Given the description of an element on the screen output the (x, y) to click on. 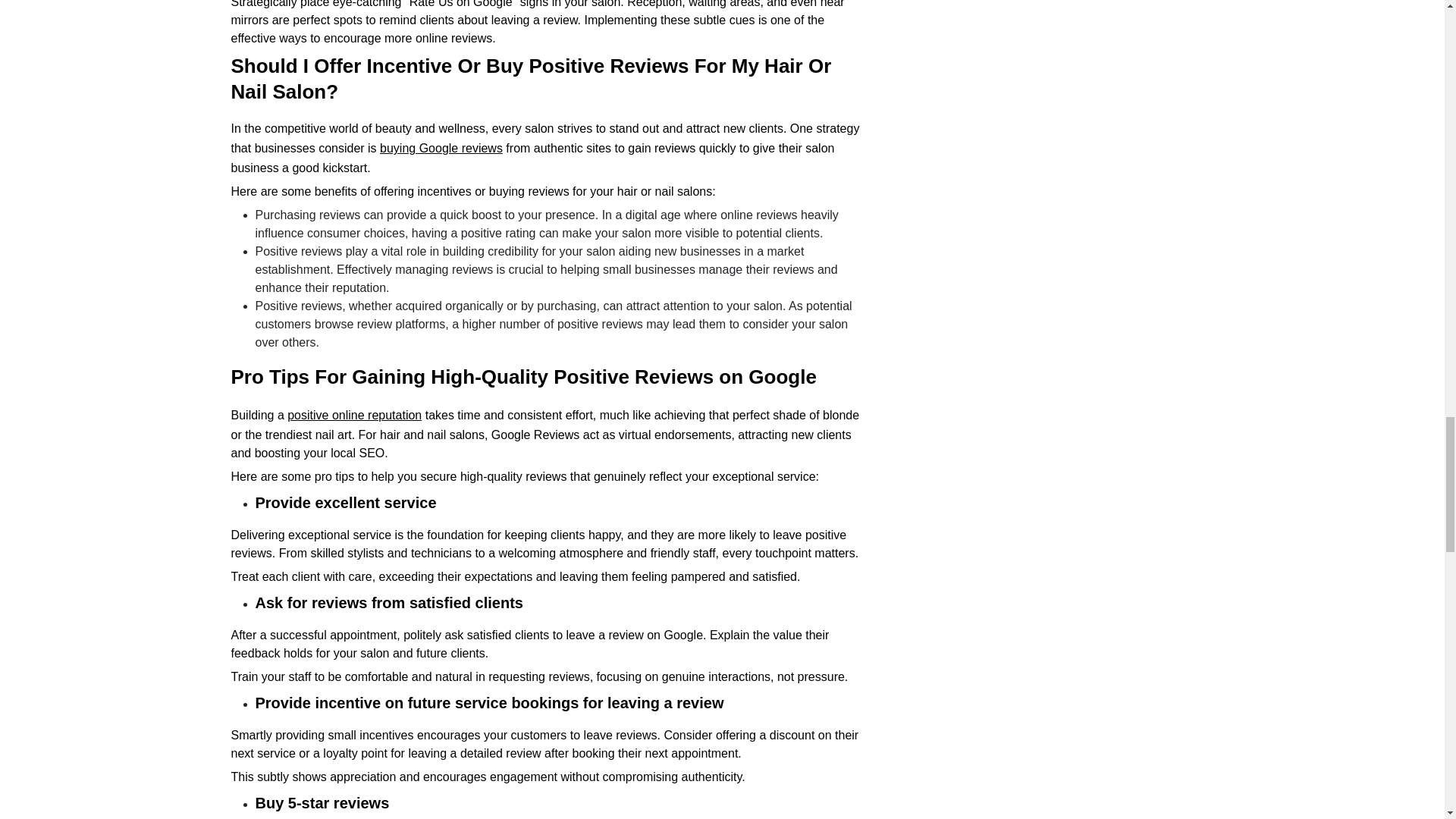
buying Google reviews (441, 147)
positive online reputation (354, 414)
